Given the description of an element on the screen output the (x, y) to click on. 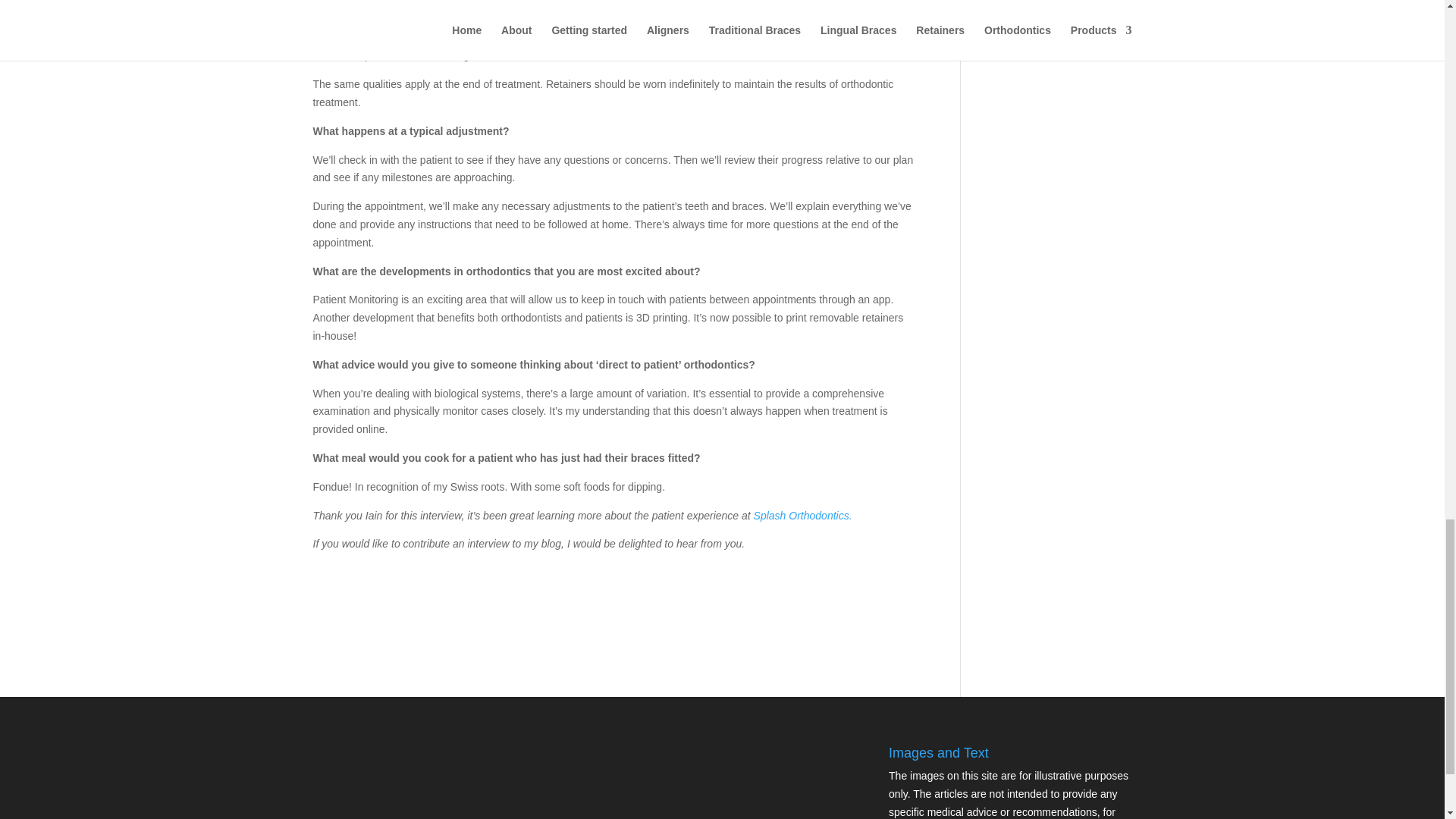
Splash Orthodontics. (802, 515)
